Given the description of an element on the screen output the (x, y) to click on. 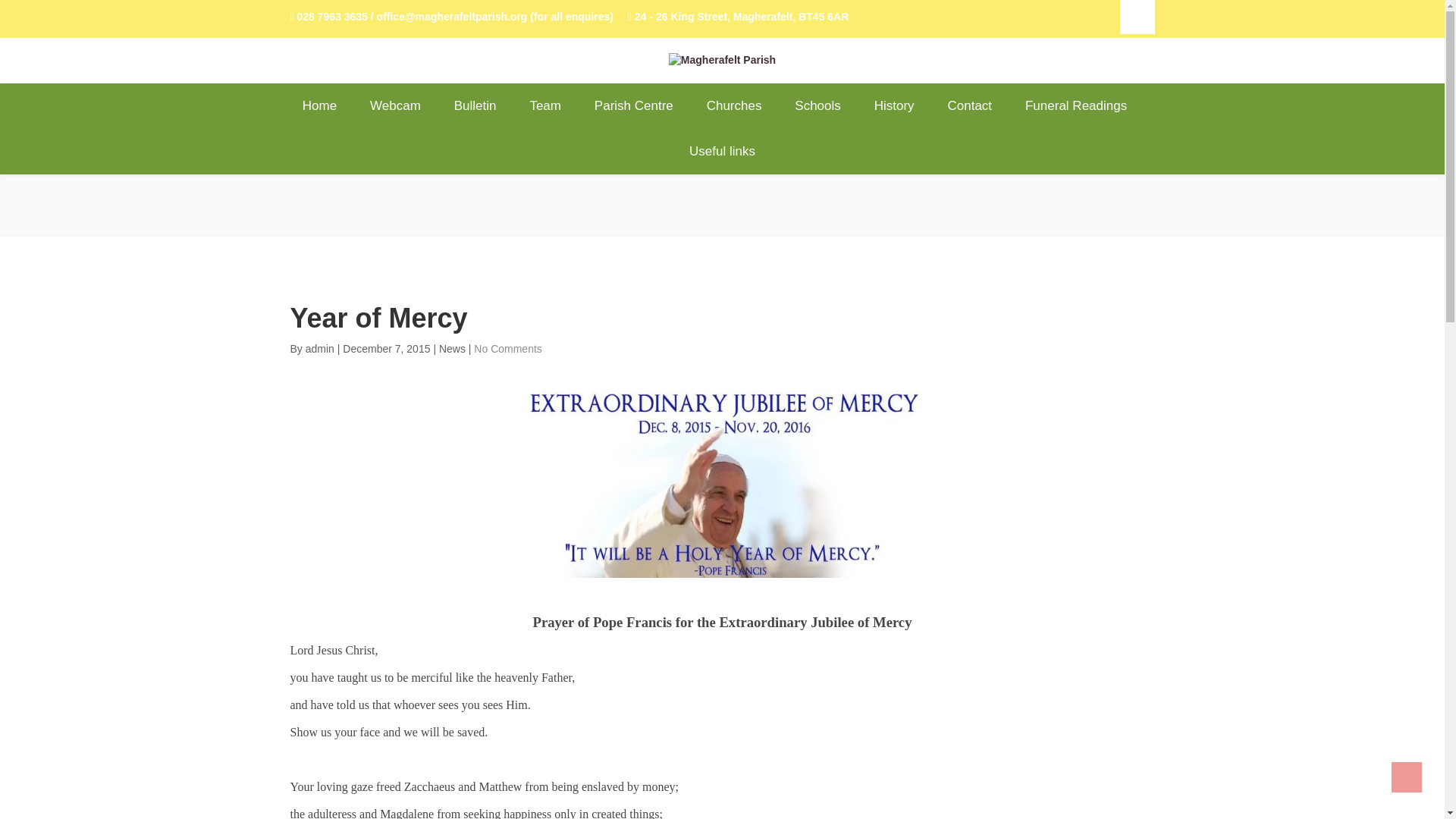
24 - 26 King Street, Magherafelt, BT45 6AR (737, 16)
Useful links (722, 151)
History (894, 105)
Parish Centre (633, 105)
Home (327, 105)
Contact (970, 105)
Webcam (395, 105)
News (452, 348)
Churches (734, 105)
Schools (817, 105)
Team (544, 105)
No Comments (507, 348)
Bulletin (475, 105)
Funeral Readings (1075, 105)
admin (321, 348)
